Given the description of an element on the screen output the (x, y) to click on. 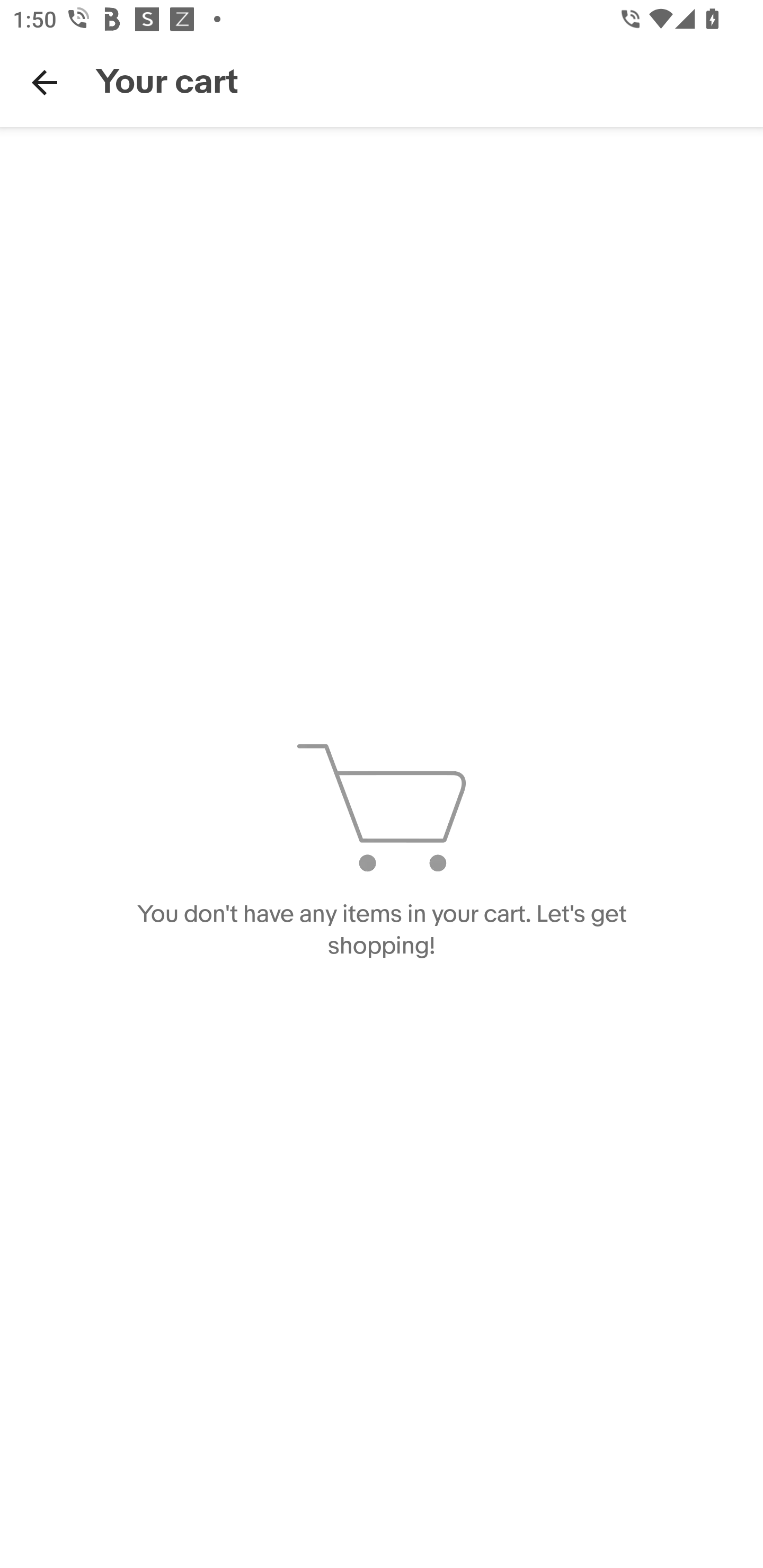
Navigate up (44, 82)
